Given the description of an element on the screen output the (x, y) to click on. 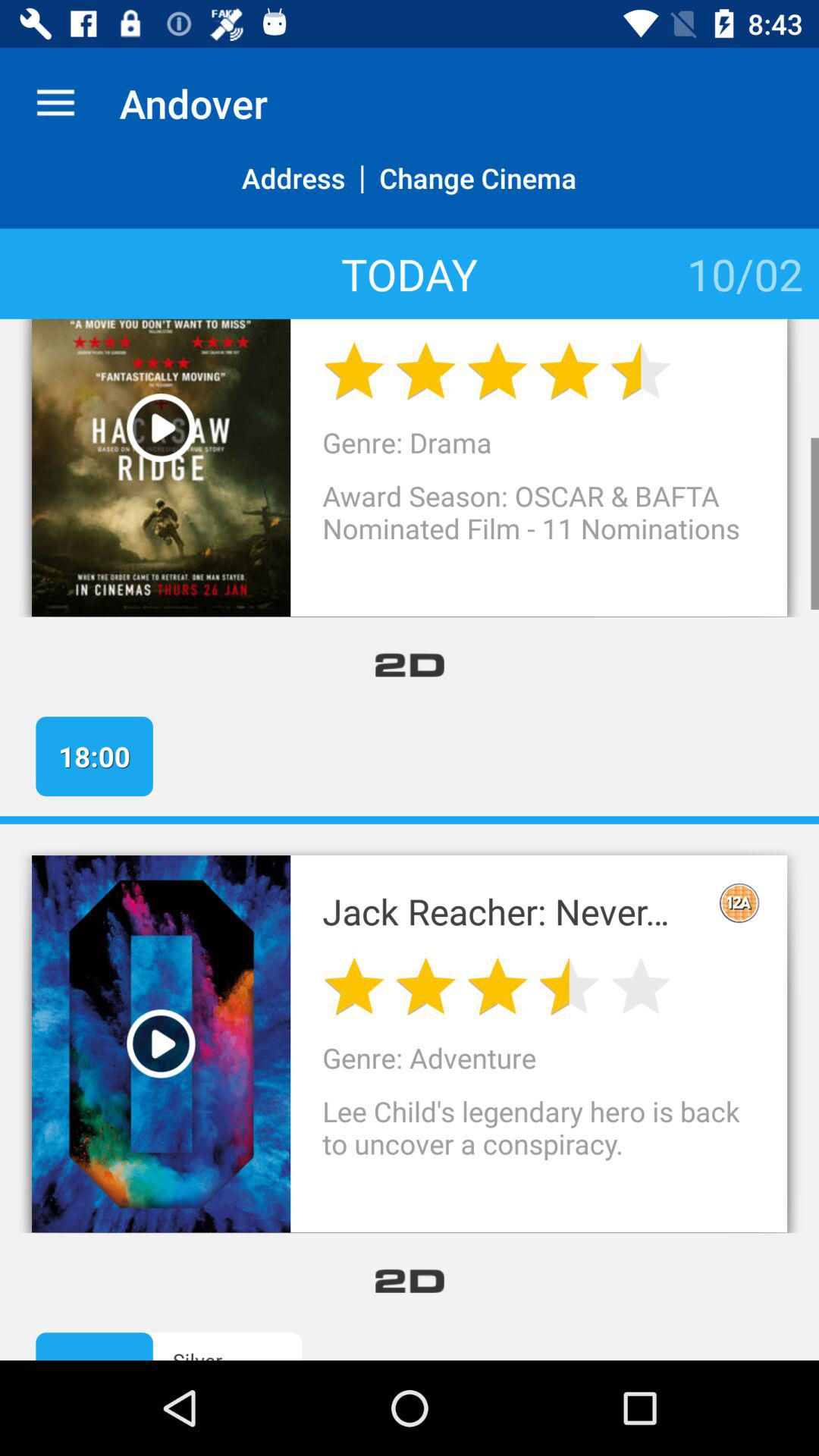
choose the icon above lee child s item (739, 903)
